Given the description of an element on the screen output the (x, y) to click on. 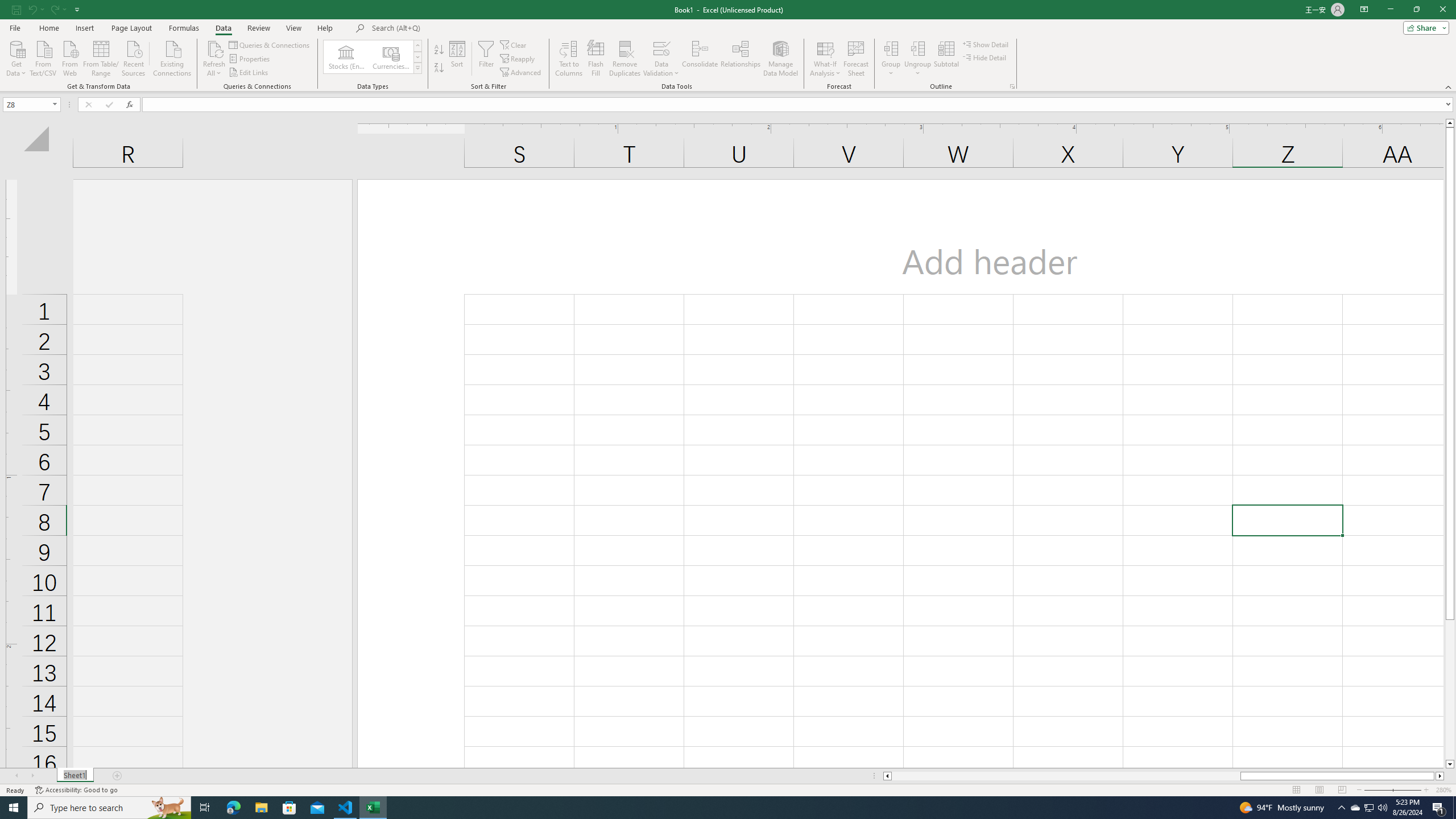
Consolidate... (700, 58)
